Given the description of an element on the screen output the (x, y) to click on. 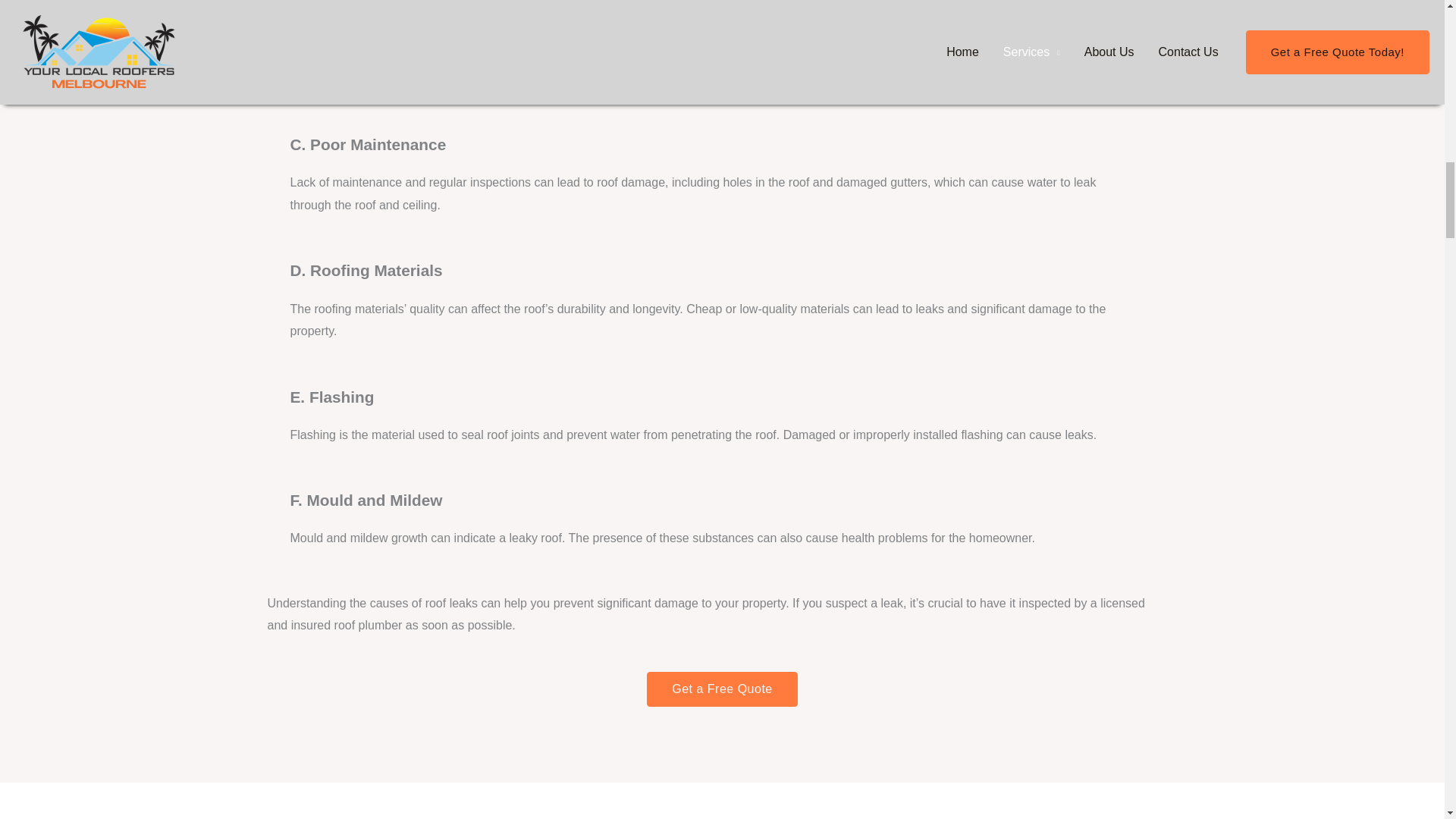
Get a Free Quote (721, 688)
